Given the description of an element on the screen output the (x, y) to click on. 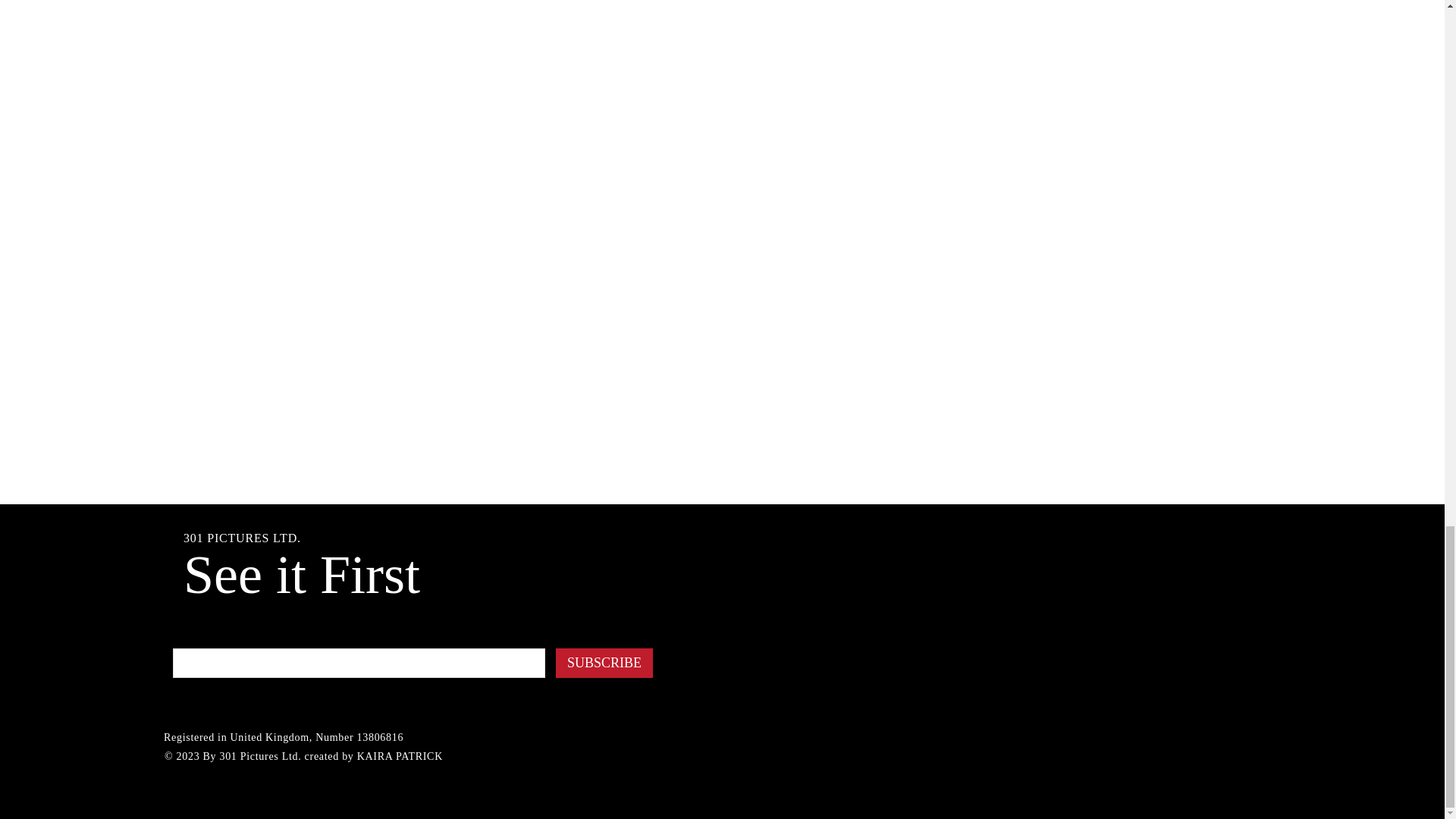
KAIRA PATRICK (399, 756)
SUBSCRIBE (604, 663)
